Given the description of an element on the screen output the (x, y) to click on. 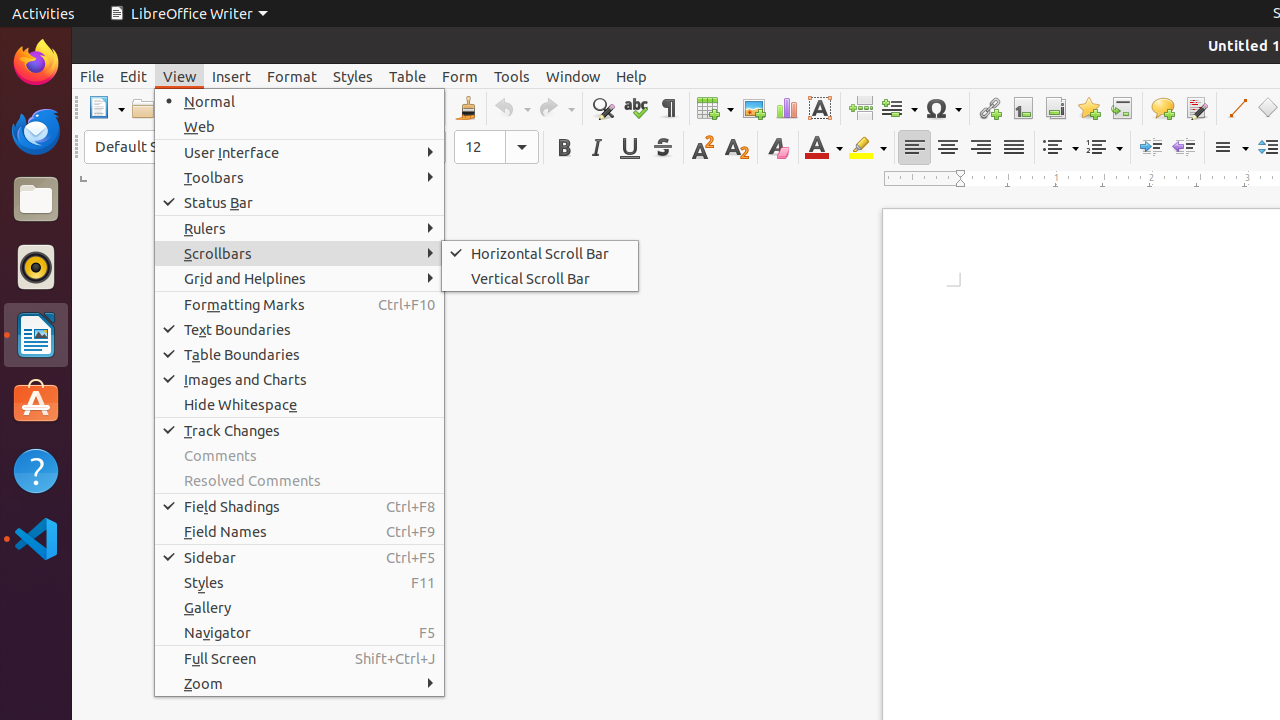
Zoom Element type: menu (299, 683)
Help Element type: menu (631, 76)
Insert Element type: menu (231, 76)
Left Element type: toggle-button (914, 147)
View Element type: menu (179, 76)
